Given the description of an element on the screen output the (x, y) to click on. 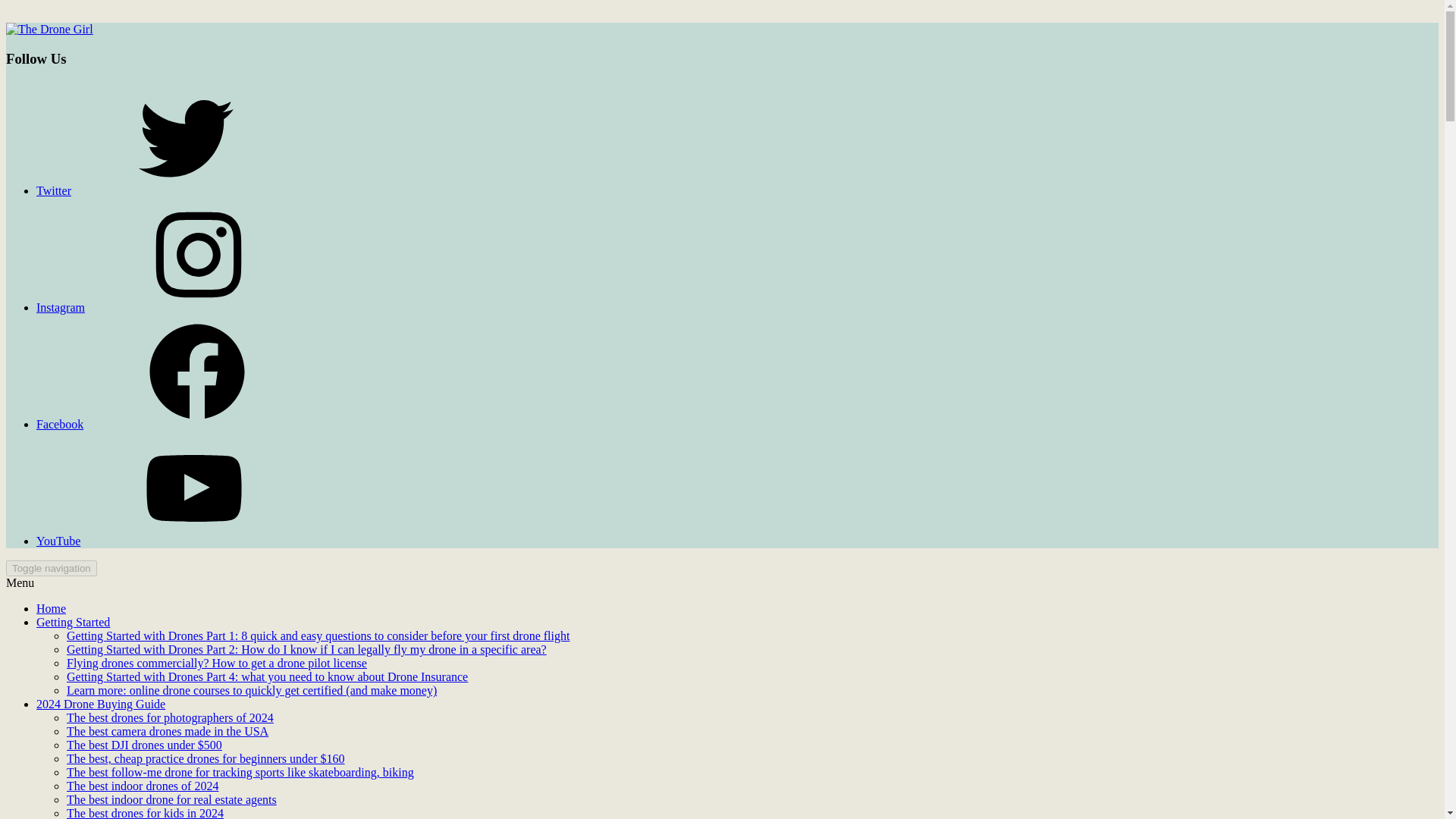
The best camera drones made in the USA (166, 730)
The best indoor drone for real estate agents (171, 799)
Getting Started (73, 621)
The best drones for photographers of 2024 (169, 717)
The best drones for kids in 2024 (145, 812)
The best drones for photographers of 2024 (169, 717)
2024 Drone Buying Guide (100, 703)
Instagram (174, 307)
YouTube (171, 540)
The best indoor drones of 2024 (142, 785)
